Given the description of an element on the screen output the (x, y) to click on. 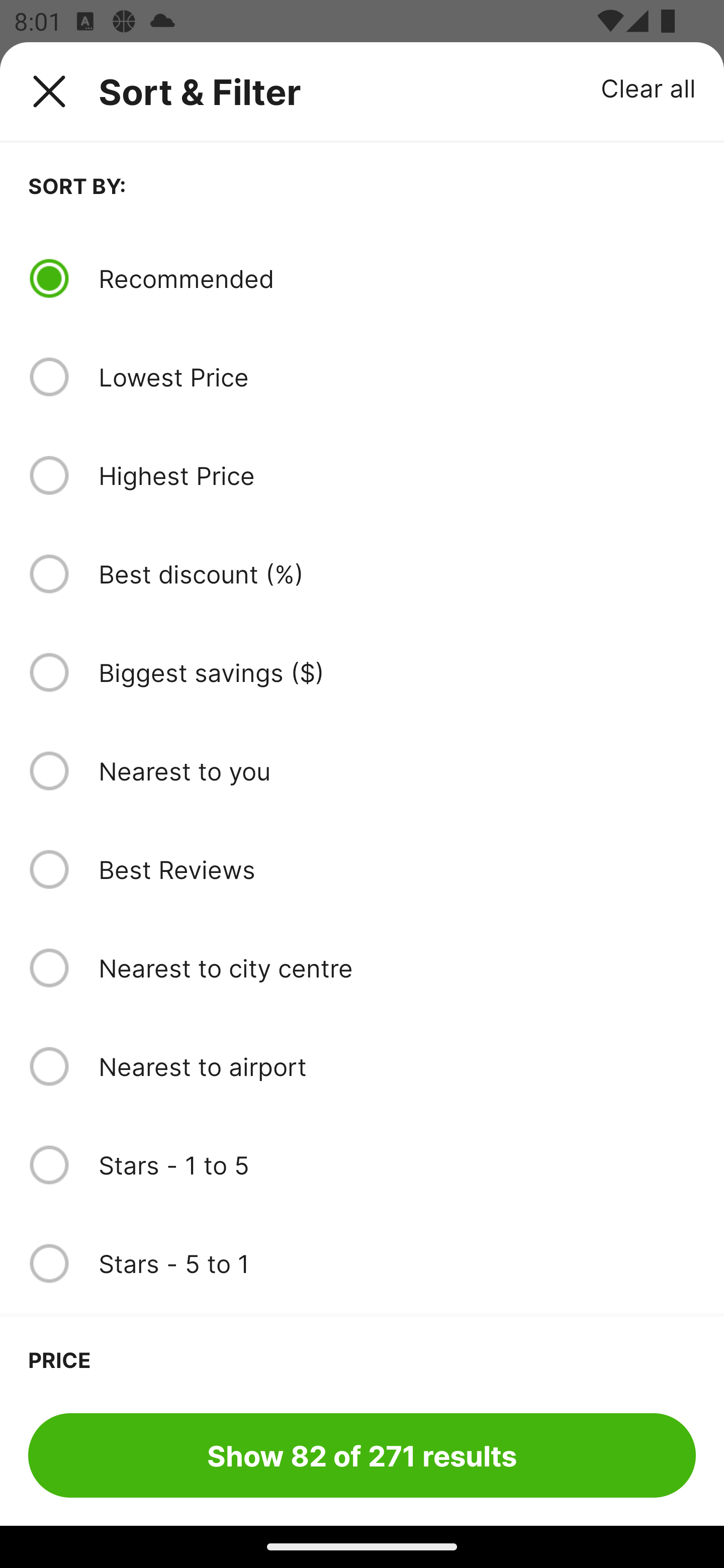
Clear all (648, 87)
Recommended  (396, 278)
Lowest Price (396, 377)
Highest Price (396, 474)
Best discount (%) (396, 573)
Biggest savings ($) (396, 672)
Nearest to you (396, 770)
Best Reviews (396, 869)
Nearest to city centre (396, 968)
Nearest to airport (396, 1065)
Stars - 1 to 5 (396, 1164)
Stars - 5 to 1 (396, 1263)
Show 82 of 271 results (361, 1454)
